Given the description of an element on the screen output the (x, y) to click on. 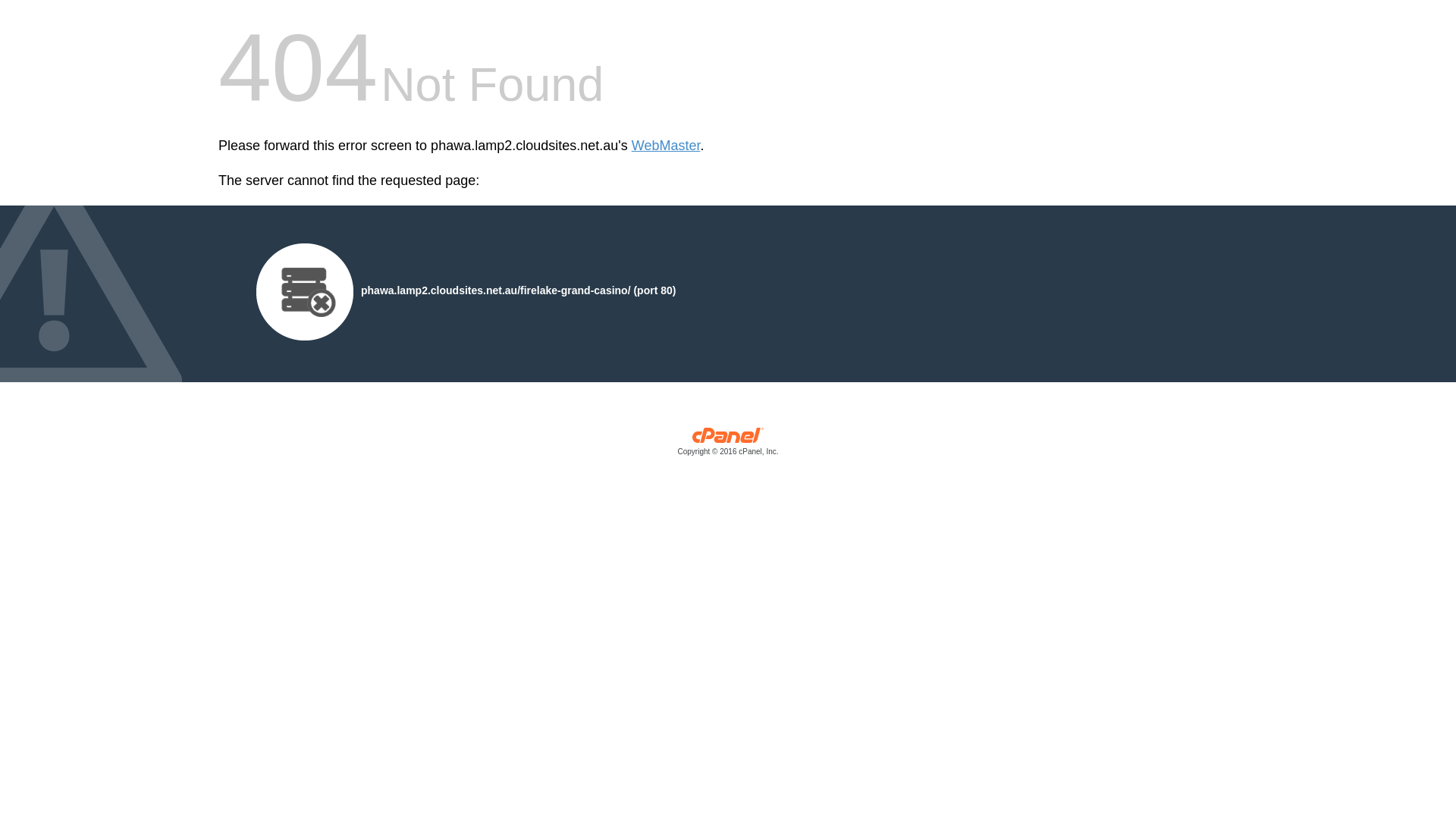
WebMaster Element type: text (665, 145)
